Given the description of an element on the screen output the (x, y) to click on. 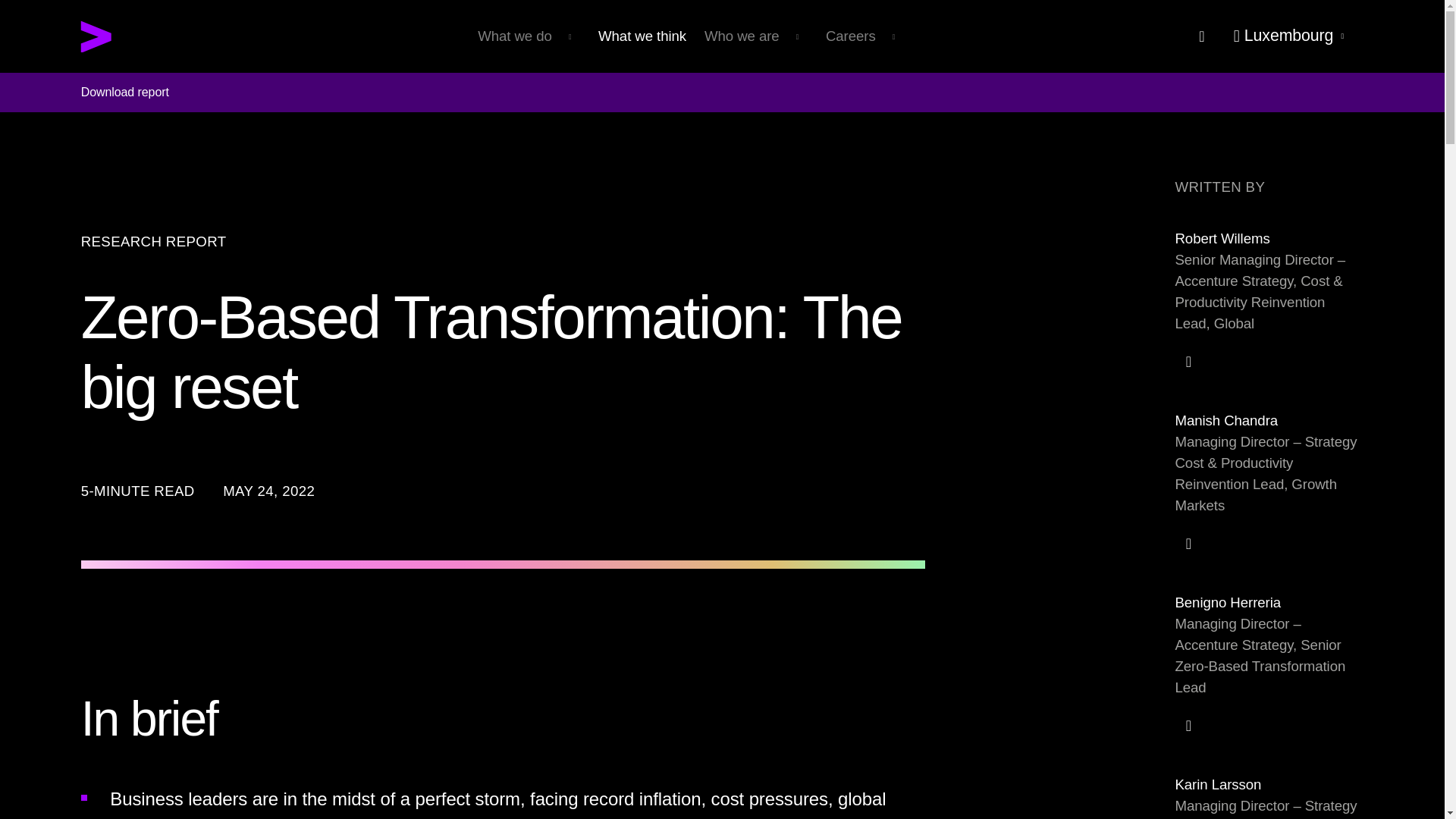
What we do (528, 36)
